Given the description of an element on the screen output the (x, y) to click on. 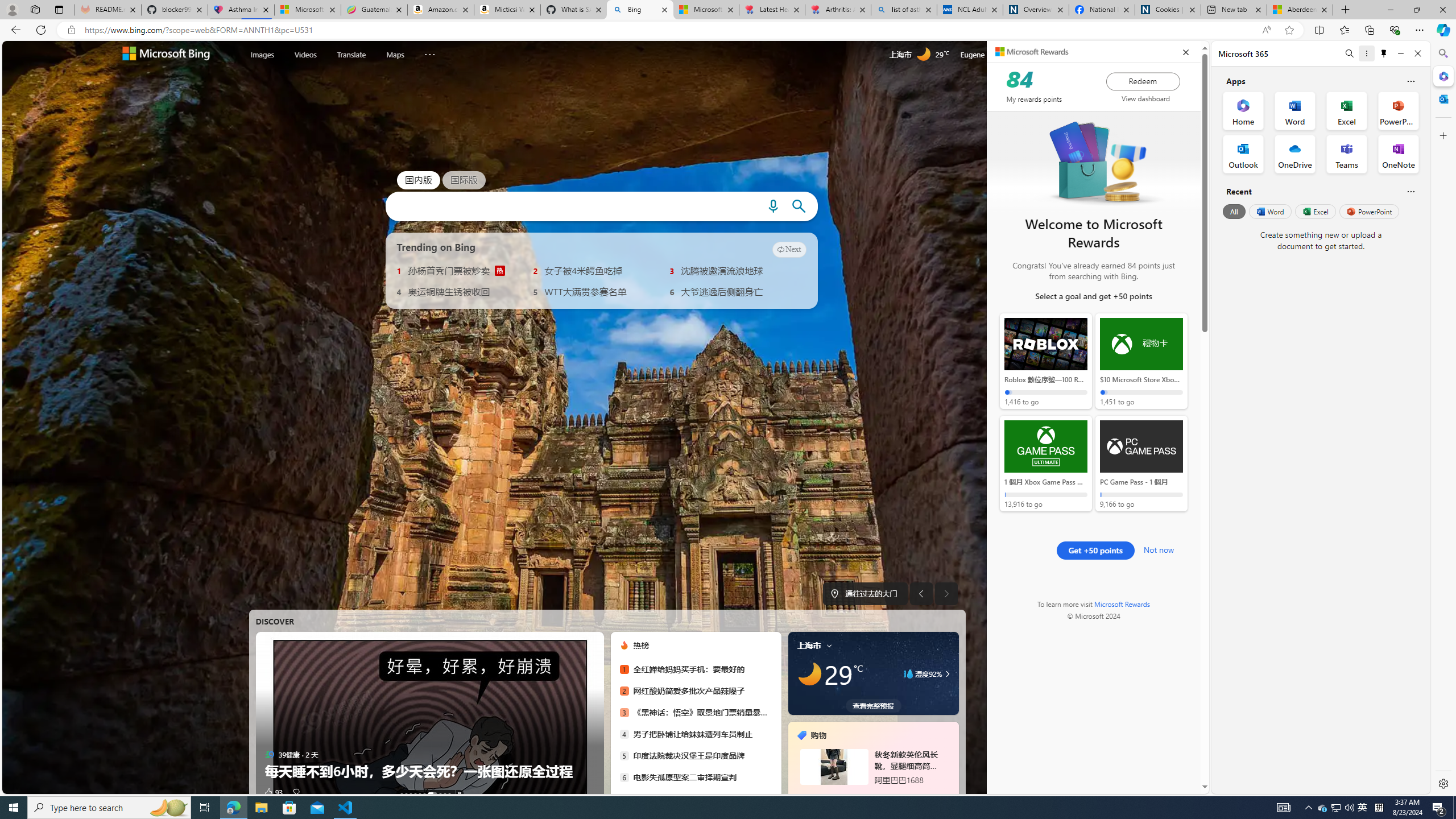
Is this helpful? (1410, 191)
Class: icon-img (828, 645)
NCL Adult Asthma Inhaler Choice Guideline (969, 9)
closeEduPanel (1185, 51)
More (429, 51)
tab-4 (882, 795)
AutomationID: tab-7 (440, 793)
Outlook Office App (1243, 154)
list of asthma inhalers uk - Search (904, 9)
